Given the description of an element on the screen output the (x, y) to click on. 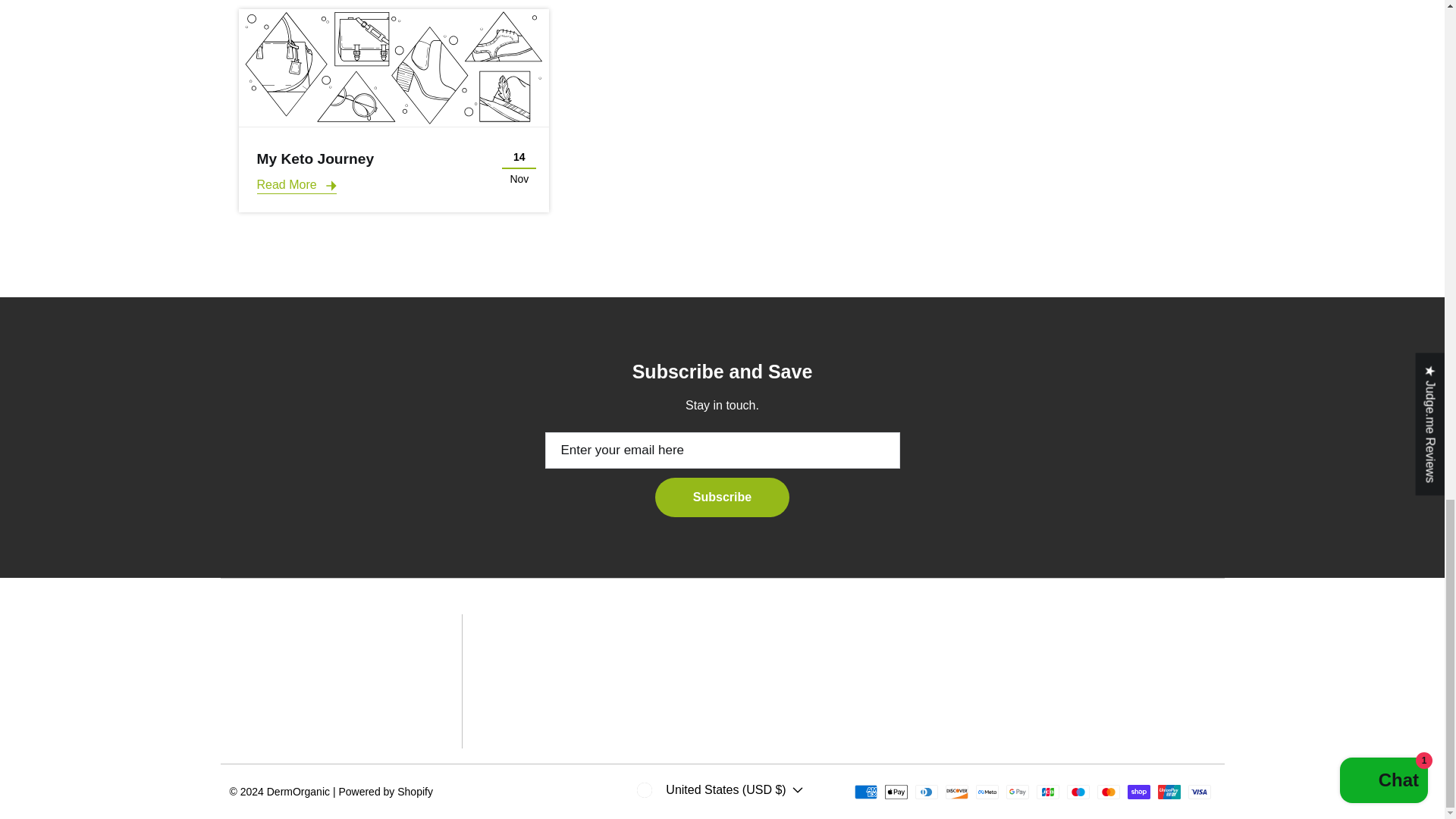
visa (1199, 791)
master (1108, 791)
unionpay (1169, 791)
maestro (1077, 791)
discover (957, 791)
jcb (1047, 791)
